Given the description of an element on the screen output the (x, y) to click on. 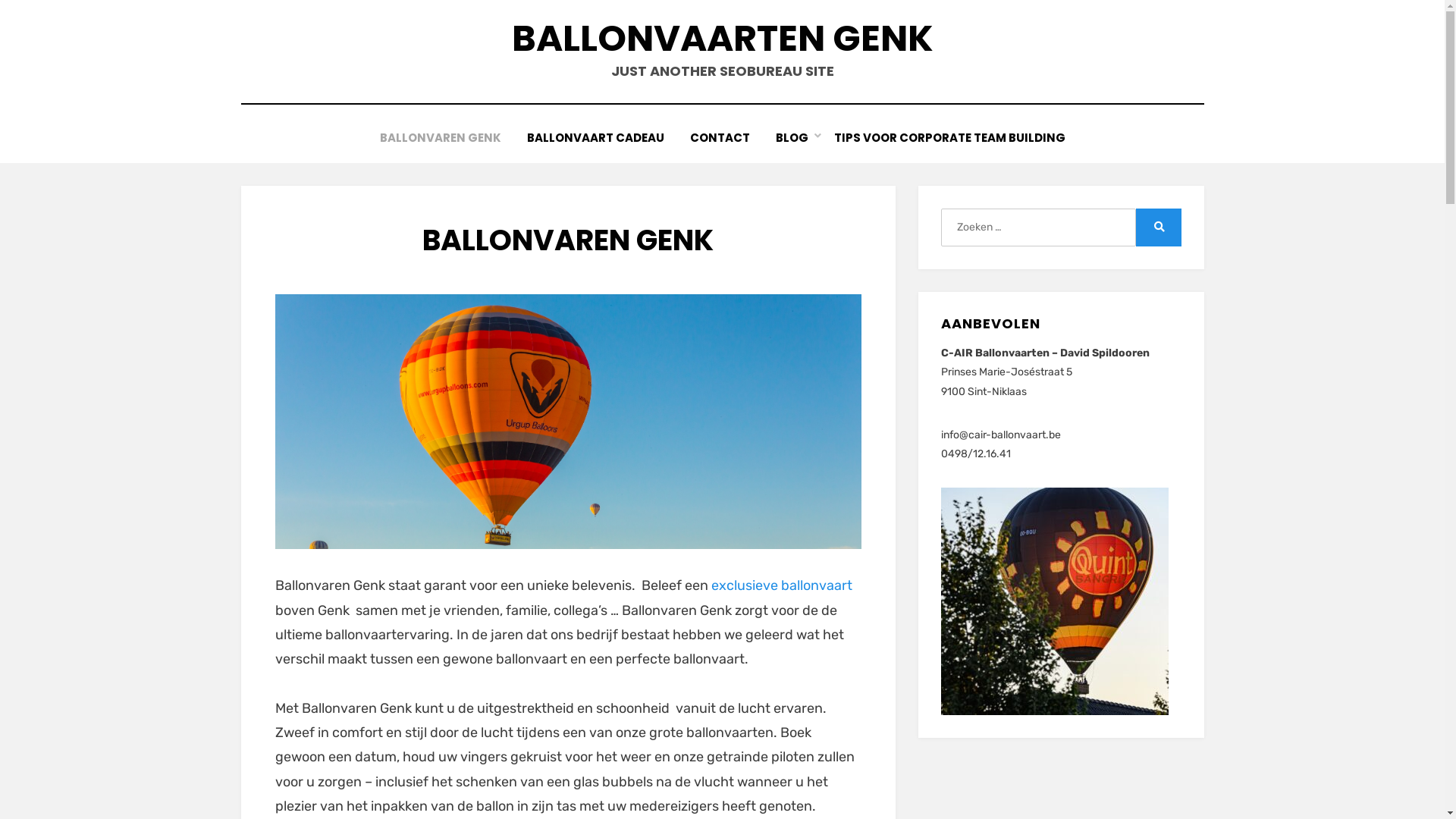
BALLONVAART CADEAU Element type: text (595, 137)
CONTACT Element type: text (719, 137)
BALLONVAARTEN GENK Element type: text (721, 37)
BLOG Element type: text (791, 137)
exclusieve ballonvaart Element type: text (781, 585)
info@cair-ballonvaart.be Element type: text (1000, 434)
Zoeken naar: Element type: hover (1038, 227)
Zoeken Element type: text (1158, 227)
0498/12.16.41 Element type: text (975, 453)
TIPS VOOR CORPORATE TEAM BUILDING Element type: text (948, 137)
BALLONVAREN GENK Element type: text (440, 137)
